Given the description of an element on the screen output the (x, y) to click on. 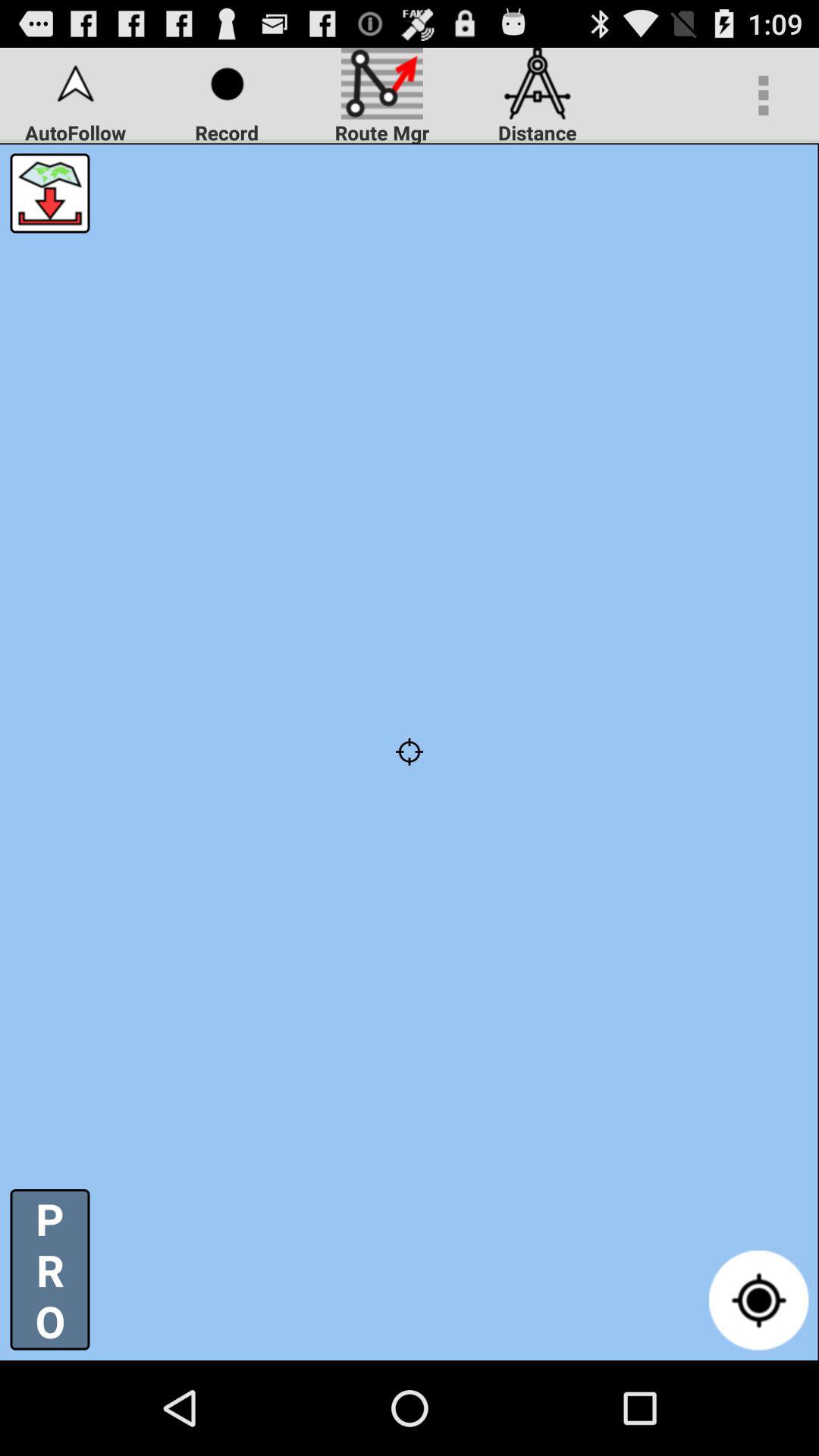
click the icon to the right of p
r
o button (758, 1300)
